Given the description of an element on the screen output the (x, y) to click on. 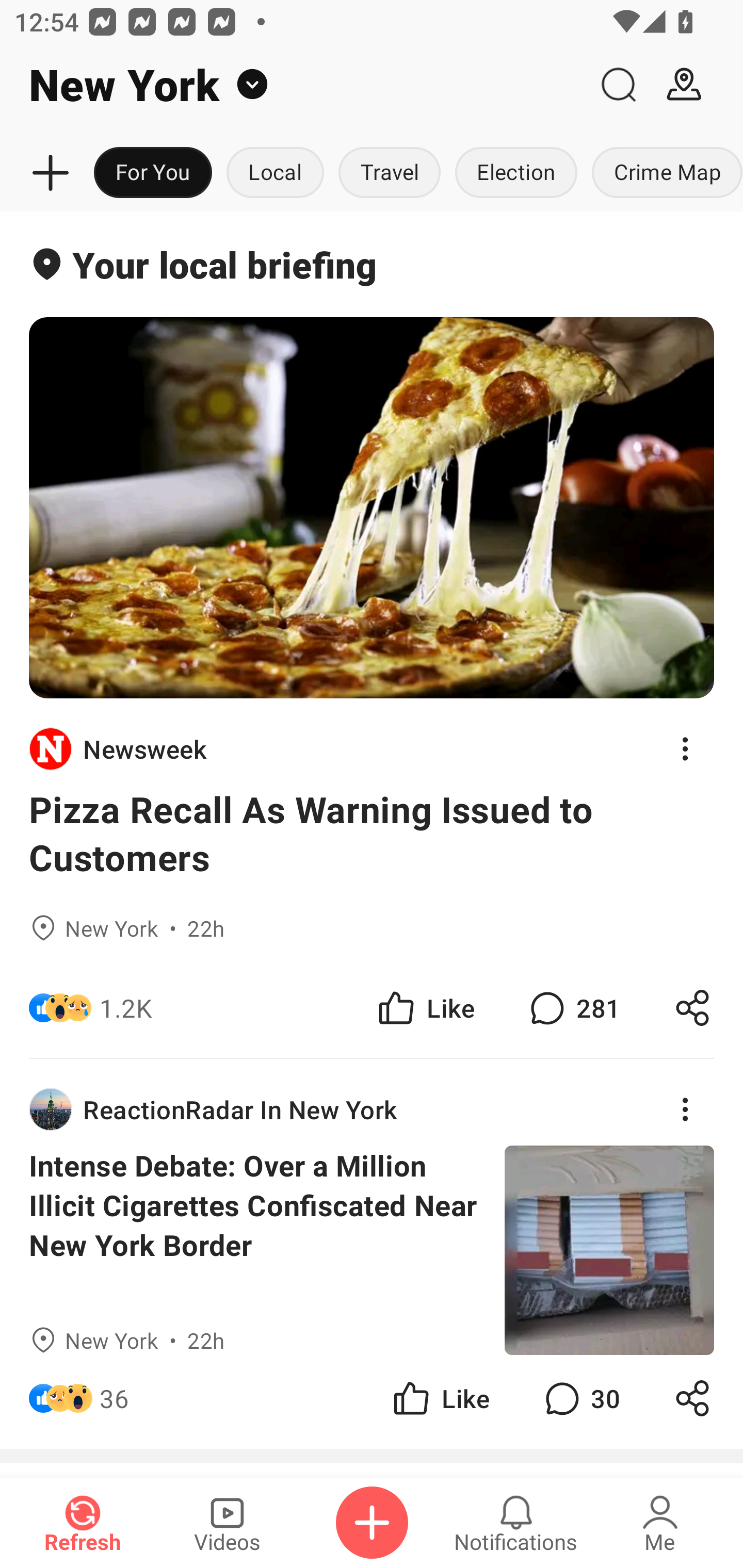
New York (292, 84)
For You (152, 172)
Local (275, 172)
Travel (389, 172)
Election (516, 172)
Crime Map (663, 172)
1.2K (125, 1007)
Like (425, 1007)
281 (572, 1007)
36 (113, 1397)
Like (439, 1397)
30 (579, 1397)
Videos (227, 1522)
Notifications (516, 1522)
Me (659, 1522)
